Given the description of an element on the screen output the (x, y) to click on. 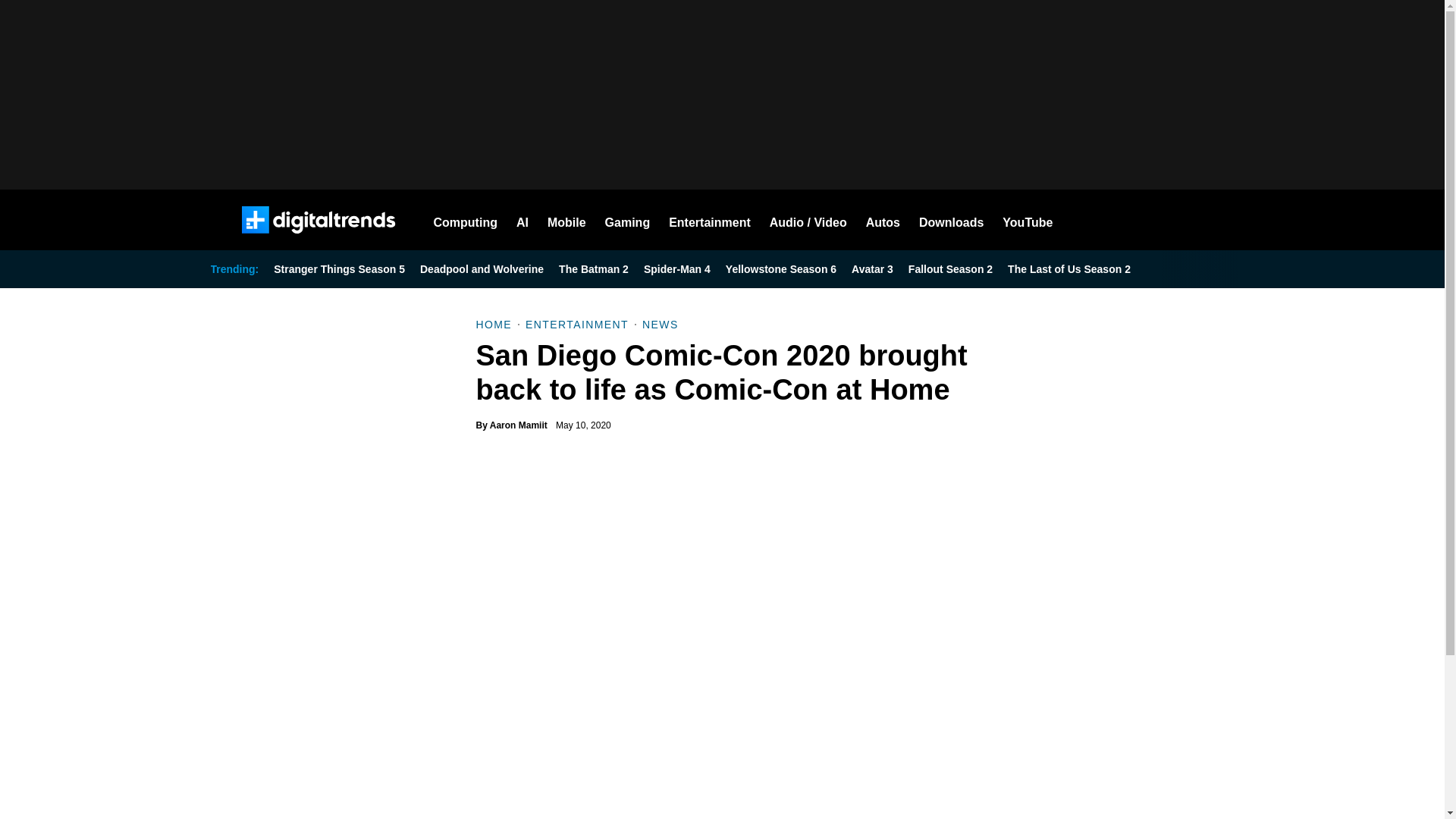
Downloads (951, 219)
Computing (465, 219)
YouTube (1027, 219)
AI (522, 219)
Mobile (566, 219)
Autos (882, 219)
Gaming (627, 219)
Entertainment (709, 219)
